Given the description of an element on the screen output the (x, y) to click on. 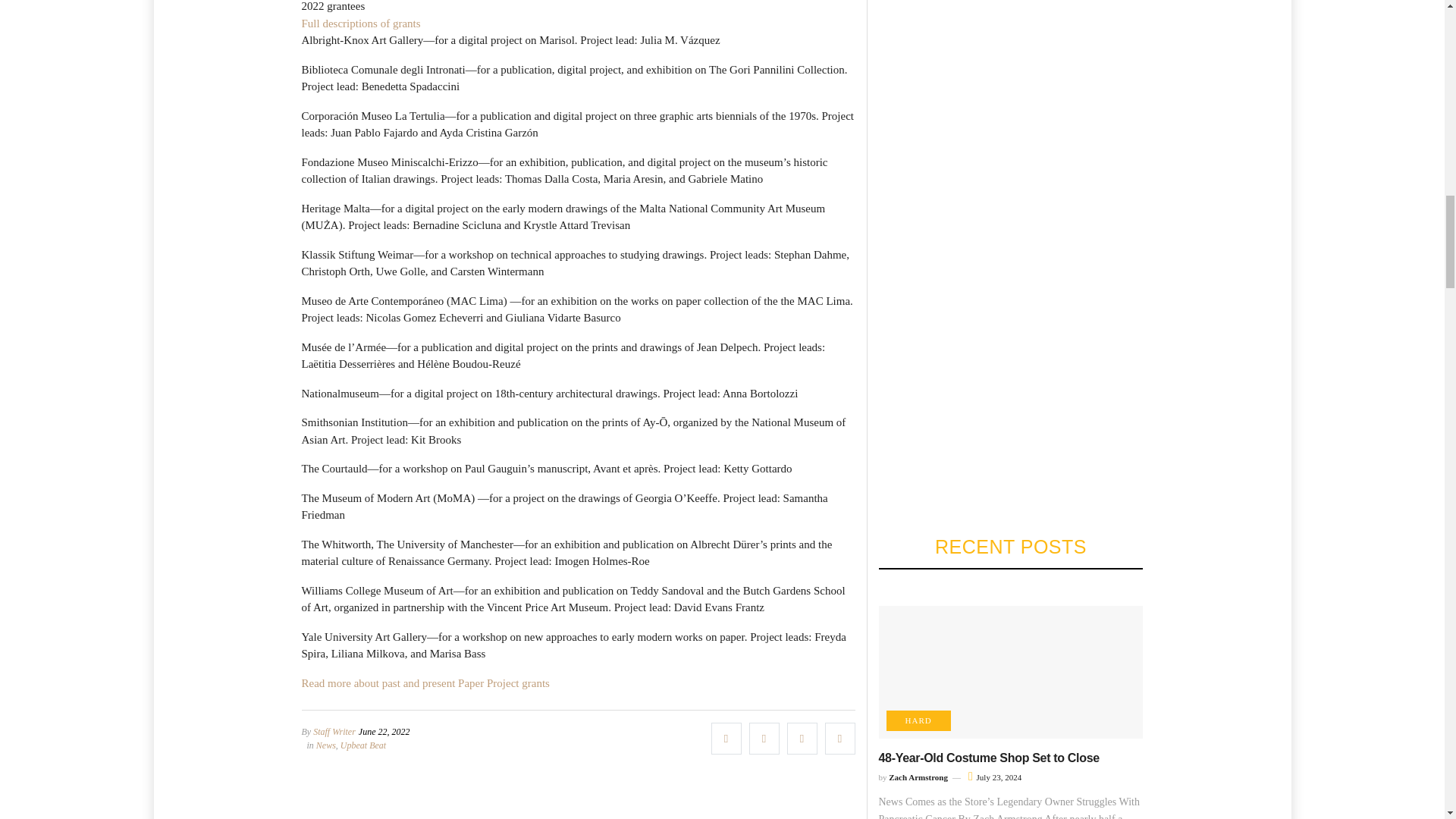
Full descriptions of grants (360, 23)
Posts by Staff Writer (334, 731)
Read more about past and present Paper Project grants (425, 683)
Upbeat Beat (362, 745)
News (325, 745)
3rd party ad content (577, 811)
Staff Writer (334, 731)
